Given the description of an element on the screen output the (x, y) to click on. 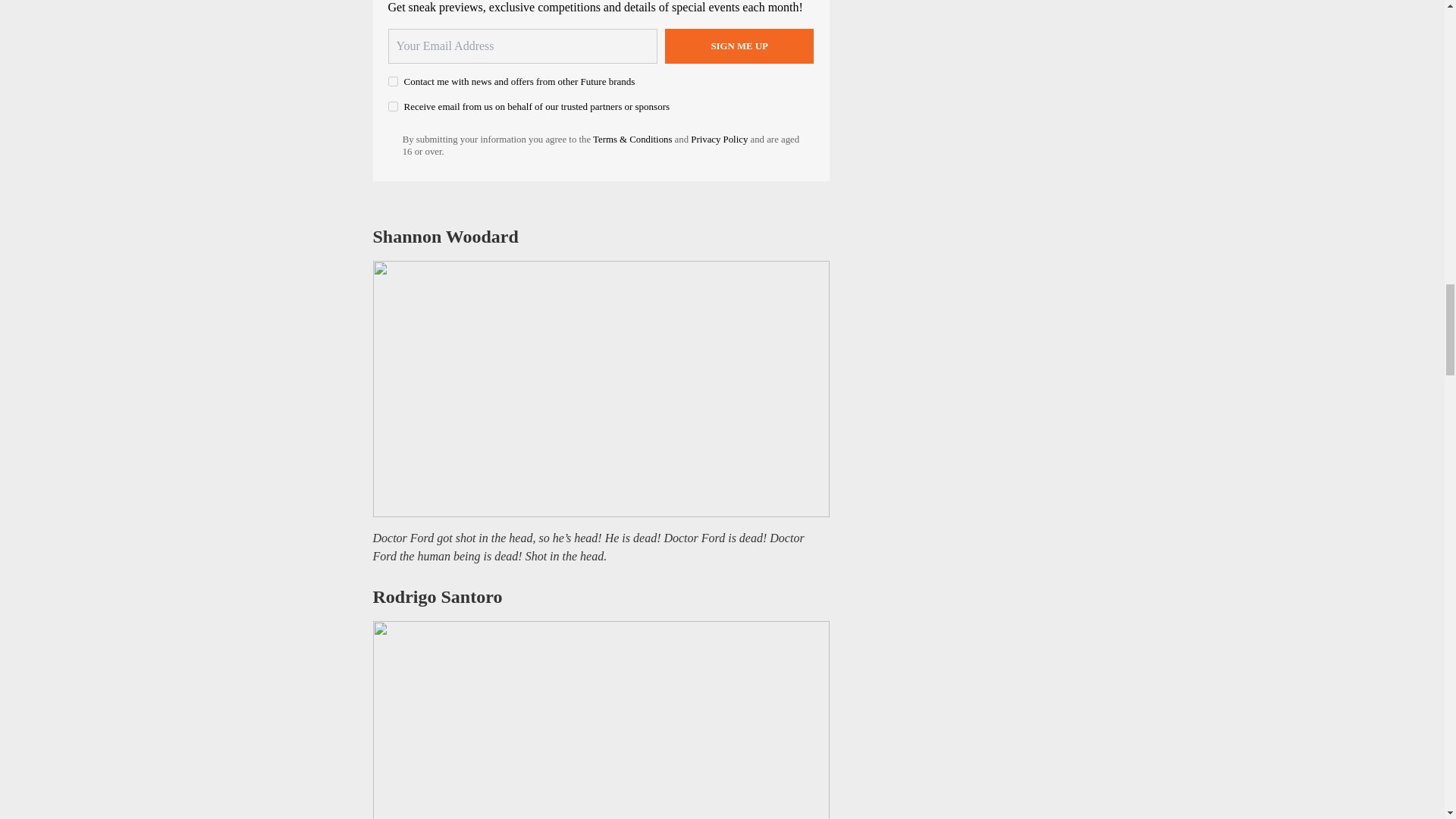
Sign me up (739, 45)
on (392, 81)
on (392, 106)
